Given the description of an element on the screen output the (x, y) to click on. 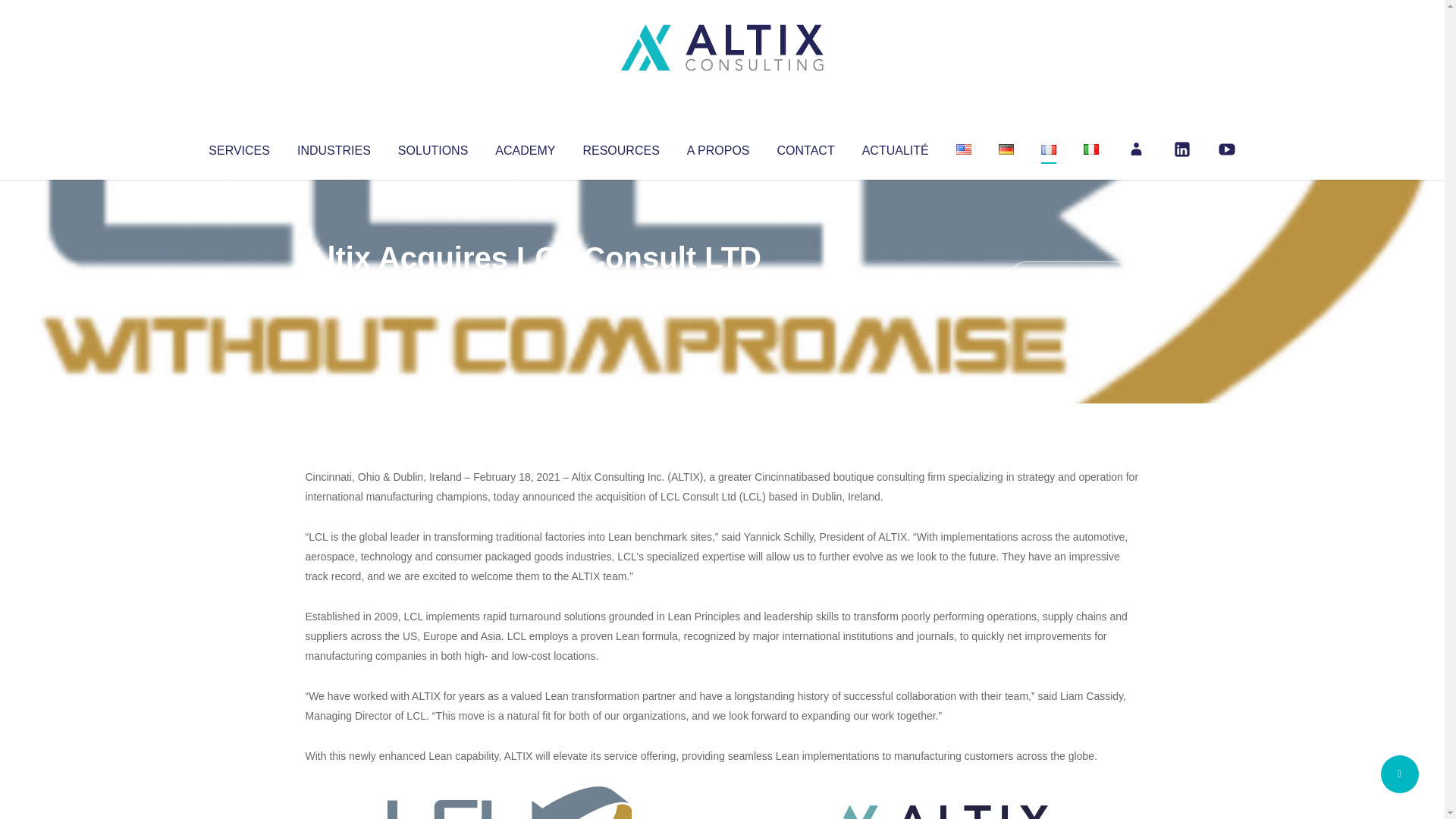
Uncategorized (530, 287)
Altix (333, 287)
A PROPOS (718, 146)
ACADEMY (524, 146)
SOLUTIONS (432, 146)
Articles par Altix (333, 287)
INDUSTRIES (334, 146)
RESOURCES (620, 146)
No Comments (1073, 278)
SERVICES (238, 146)
